Given the description of an element on the screen output the (x, y) to click on. 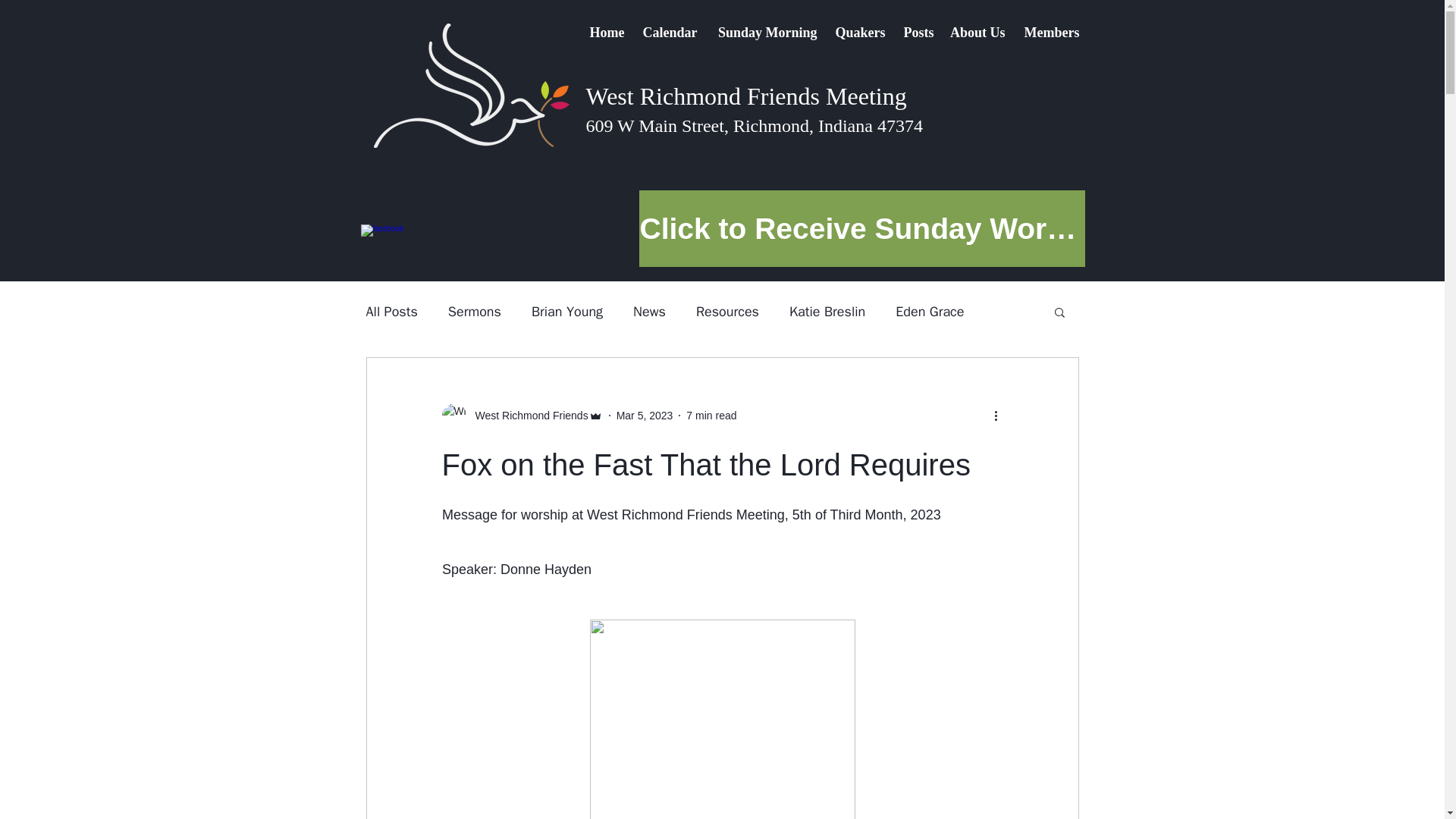
Calendar (667, 32)
West Richmond Friends (526, 415)
Click to Receive Sunday Worship Link (861, 228)
609 W Main Street, Richmond, Indiana 47374 (753, 125)
Katie Breslin (826, 311)
Sunday Morning (764, 32)
All Posts (390, 311)
News (649, 311)
7 min read (710, 415)
Home (605, 32)
